Given the description of an element on the screen output the (x, y) to click on. 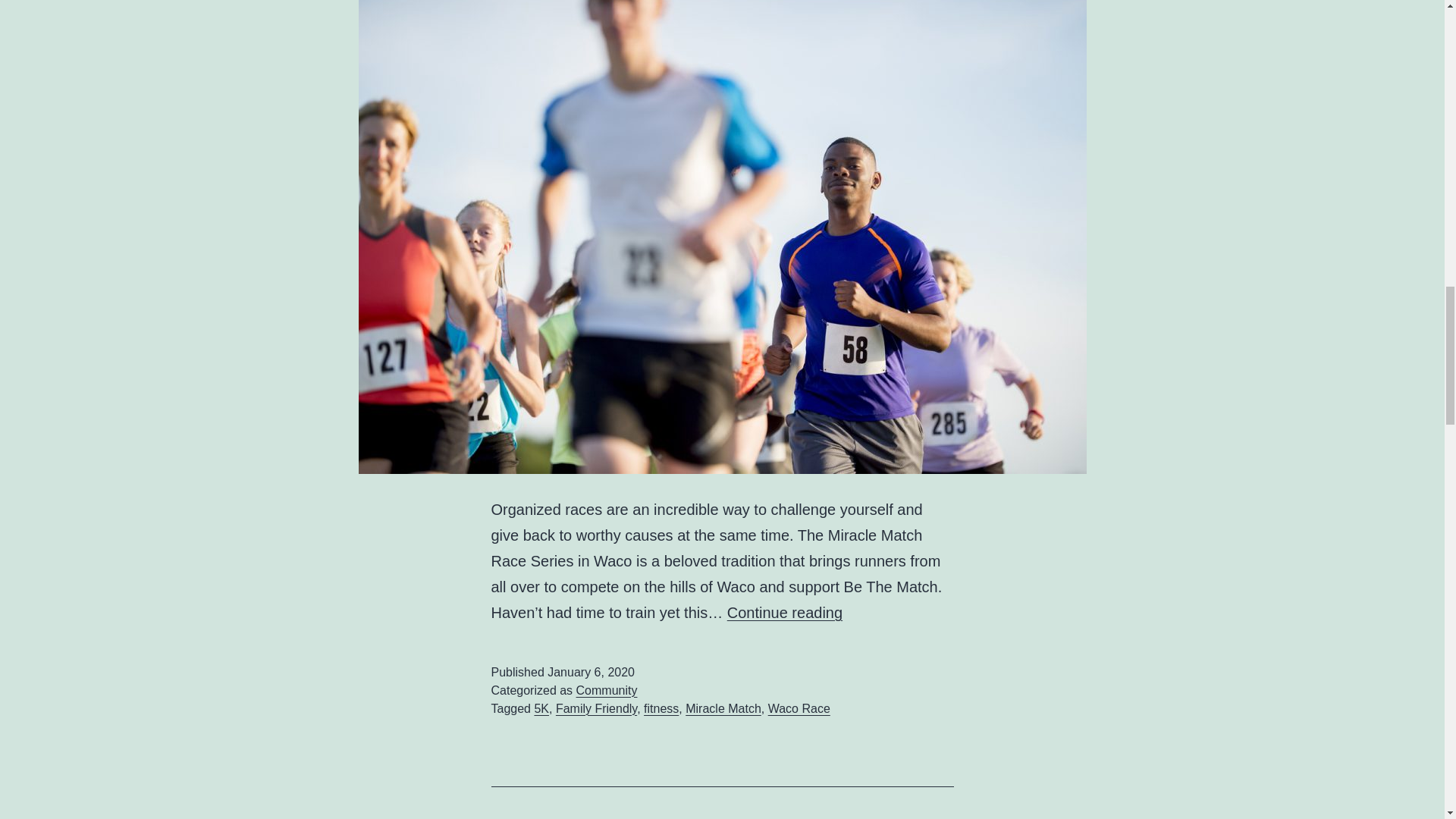
Miracle Match (723, 707)
5K (541, 707)
fitness (660, 707)
Waco Race (798, 707)
Family Friendly (596, 707)
Community (606, 689)
